Given the description of an element on the screen output the (x, y) to click on. 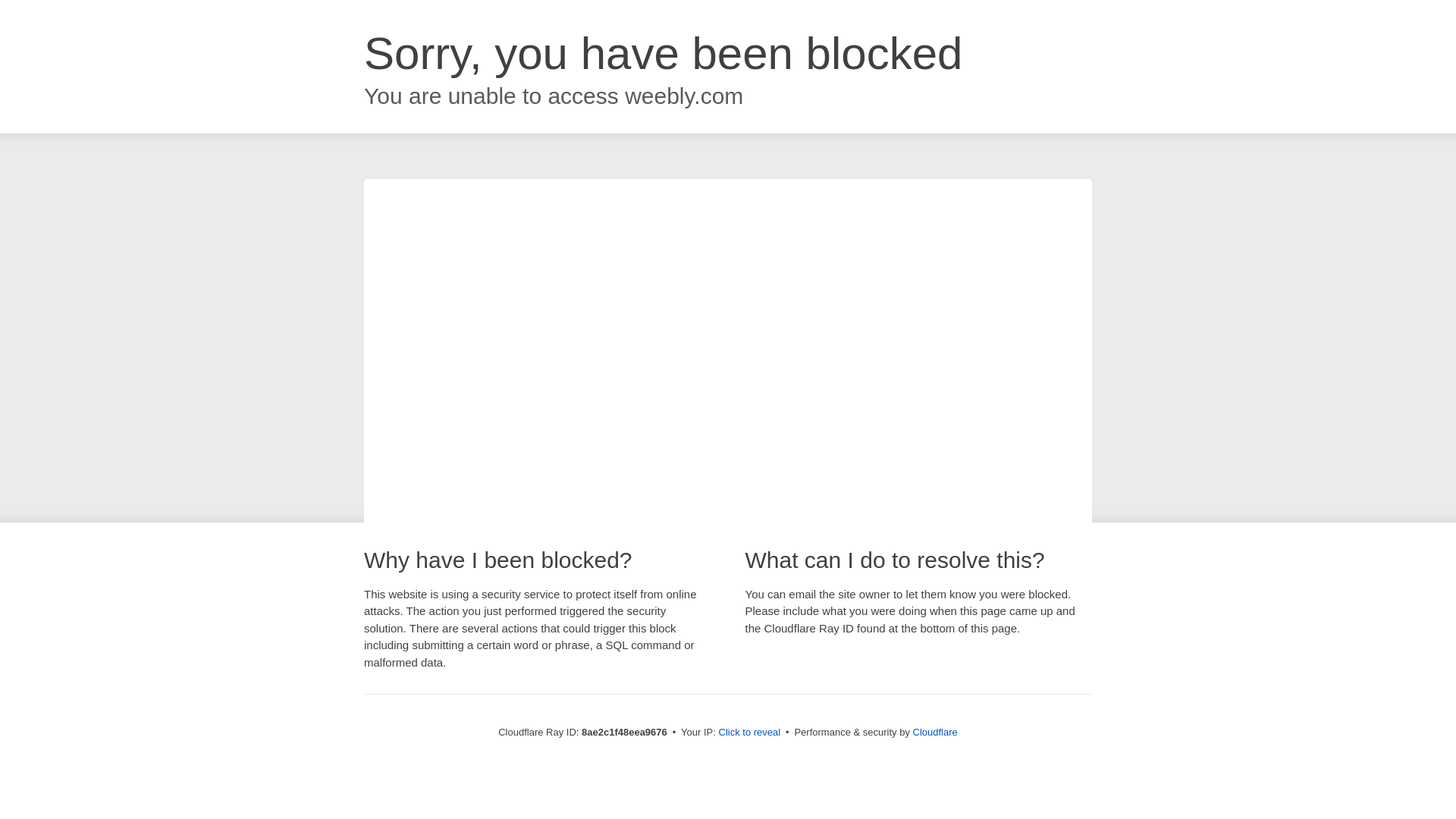
Click to reveal (749, 732)
Cloudflare (935, 731)
